Given the description of an element on the screen output the (x, y) to click on. 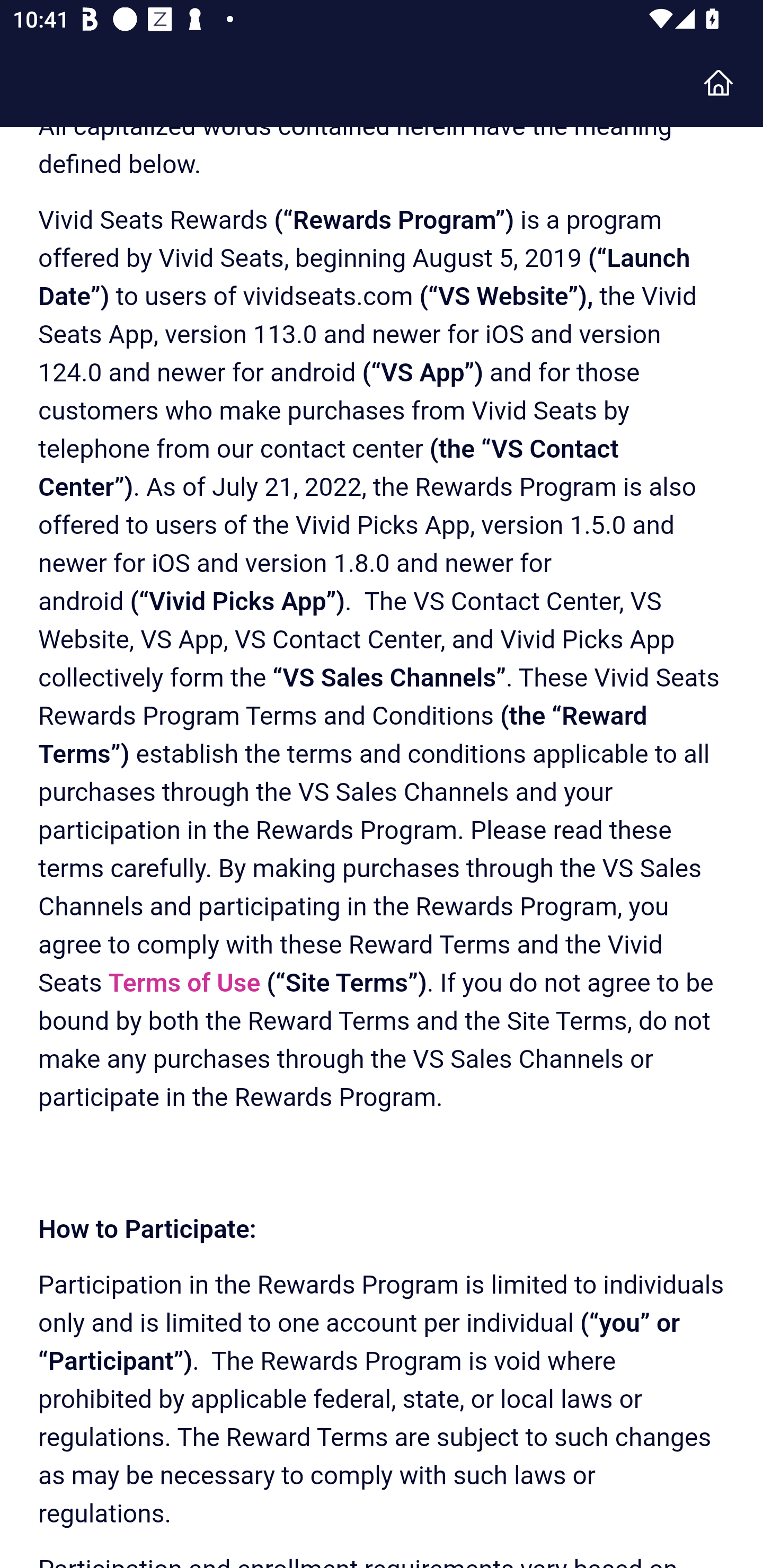
Terms of Use (184, 985)
